Given the description of an element on the screen output the (x, y) to click on. 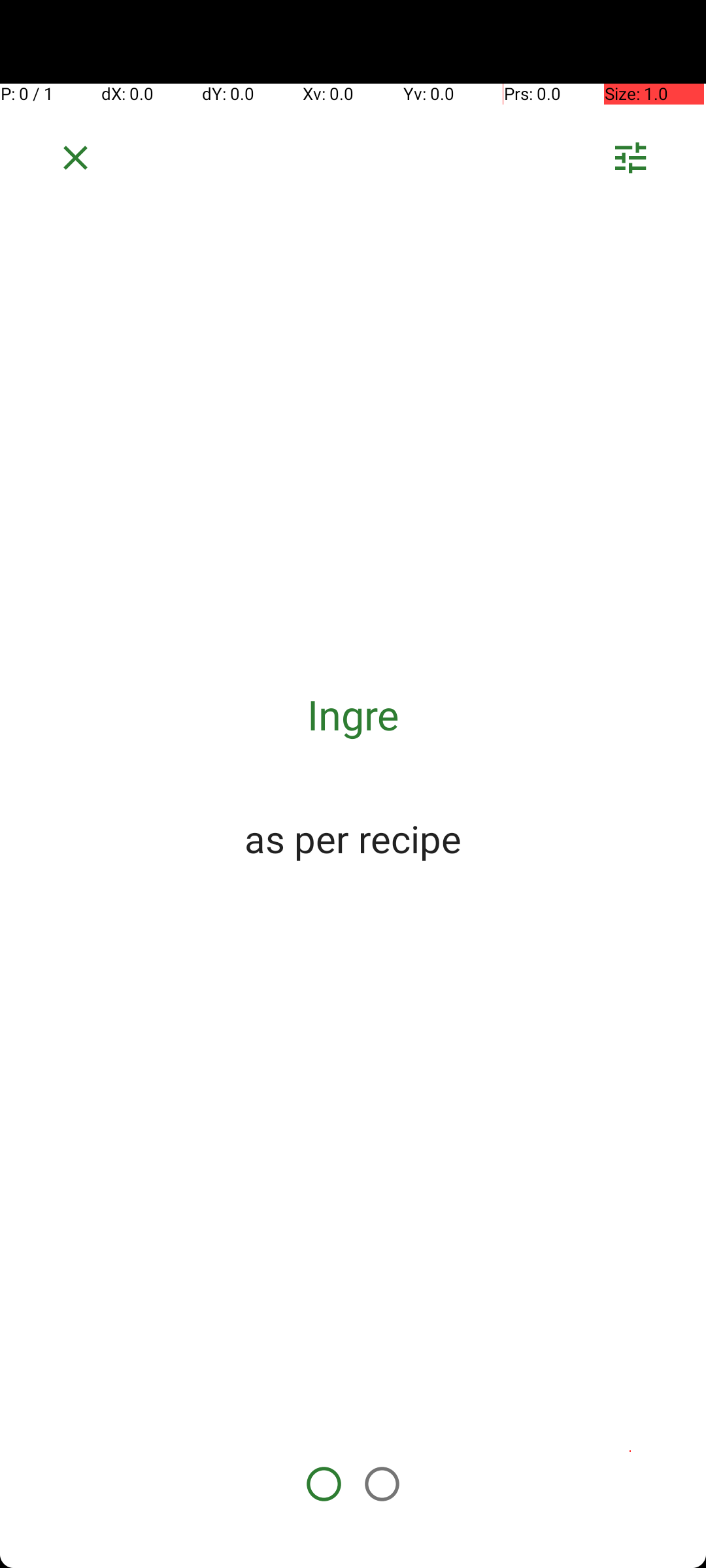
as per recipe Element type: android.widget.TextView (353, 838)
